Given the description of an element on the screen output the (x, y) to click on. 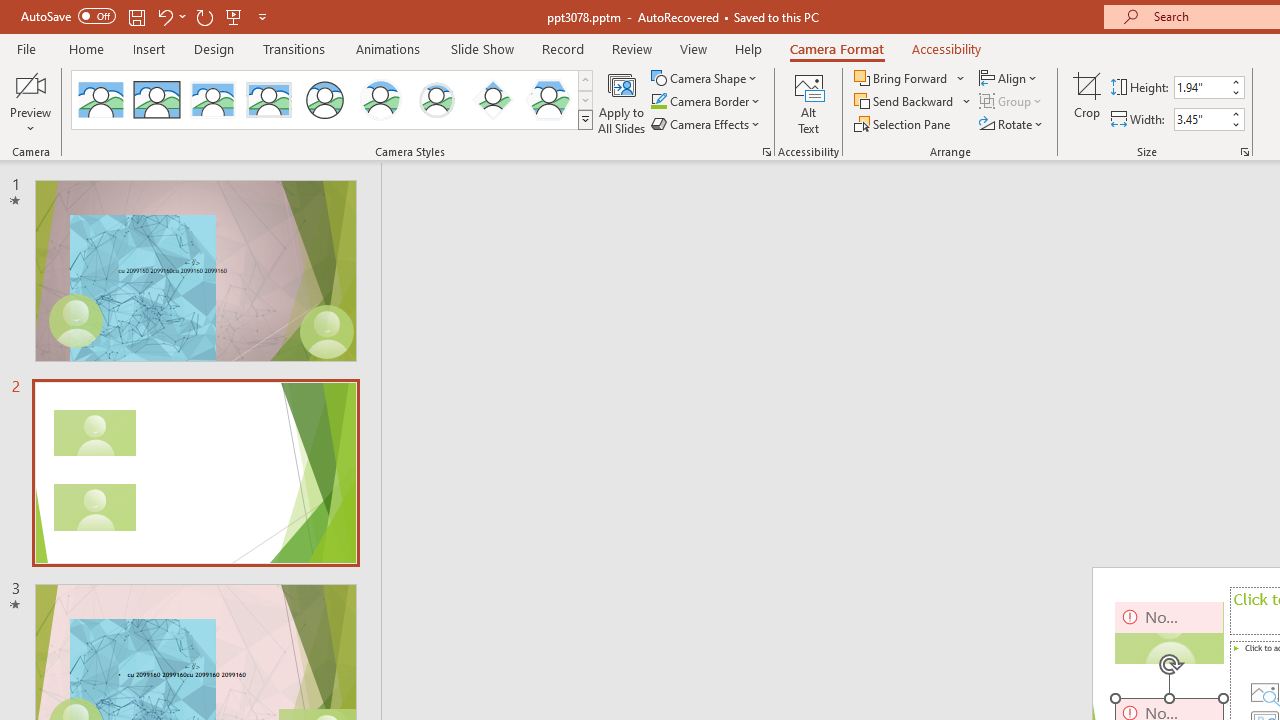
Center Shadow Rectangle (212, 100)
